Given the description of an element on the screen output the (x, y) to click on. 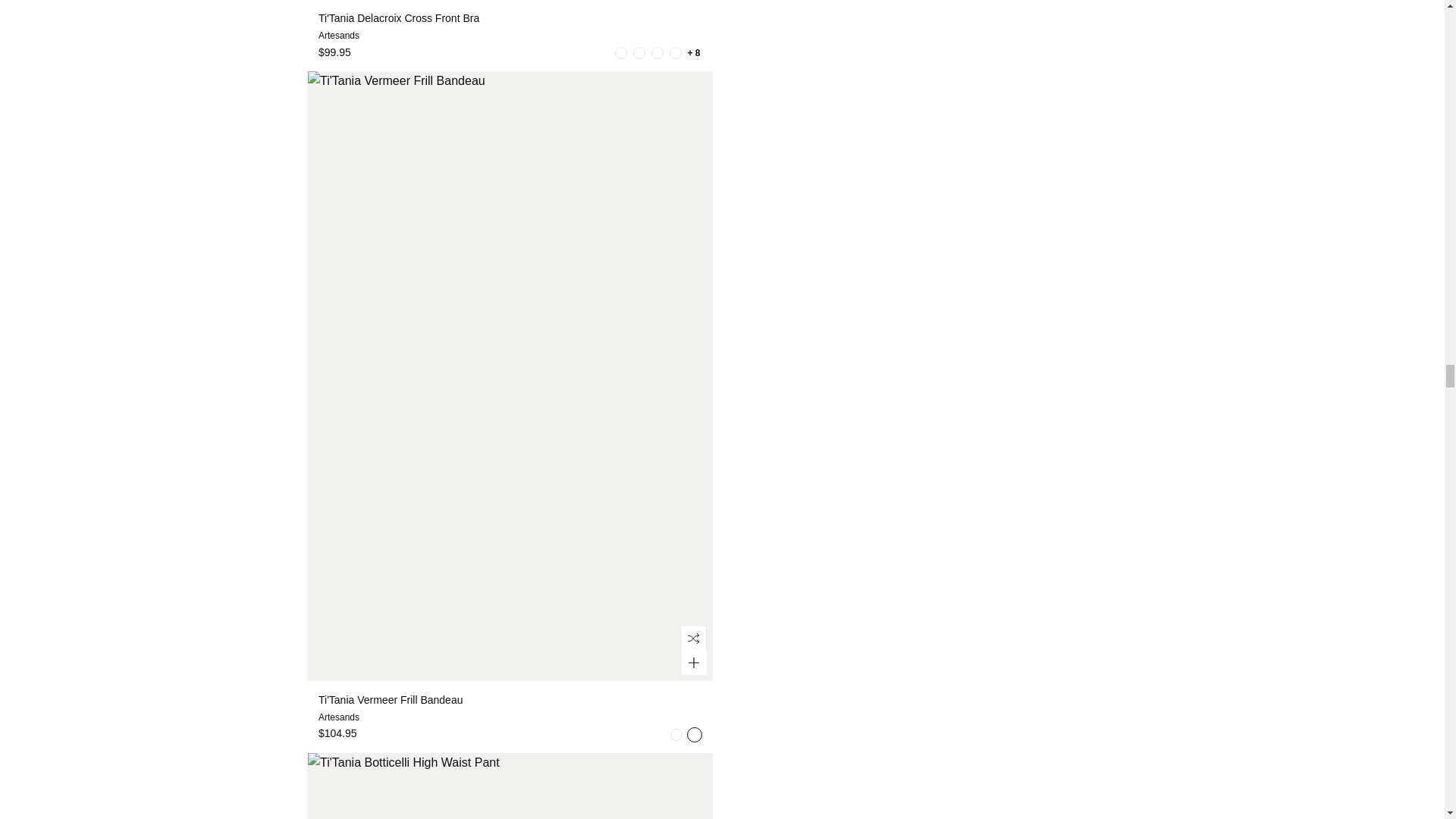
Chantique Delacroix Cross Front Bra Swatch (639, 52)
D'Avignon Delacroix Cross Front Bra Swatch (656, 52)
Boca Raton Delacroix Bra Swatch (620, 52)
